Given the description of an element on the screen output the (x, y) to click on. 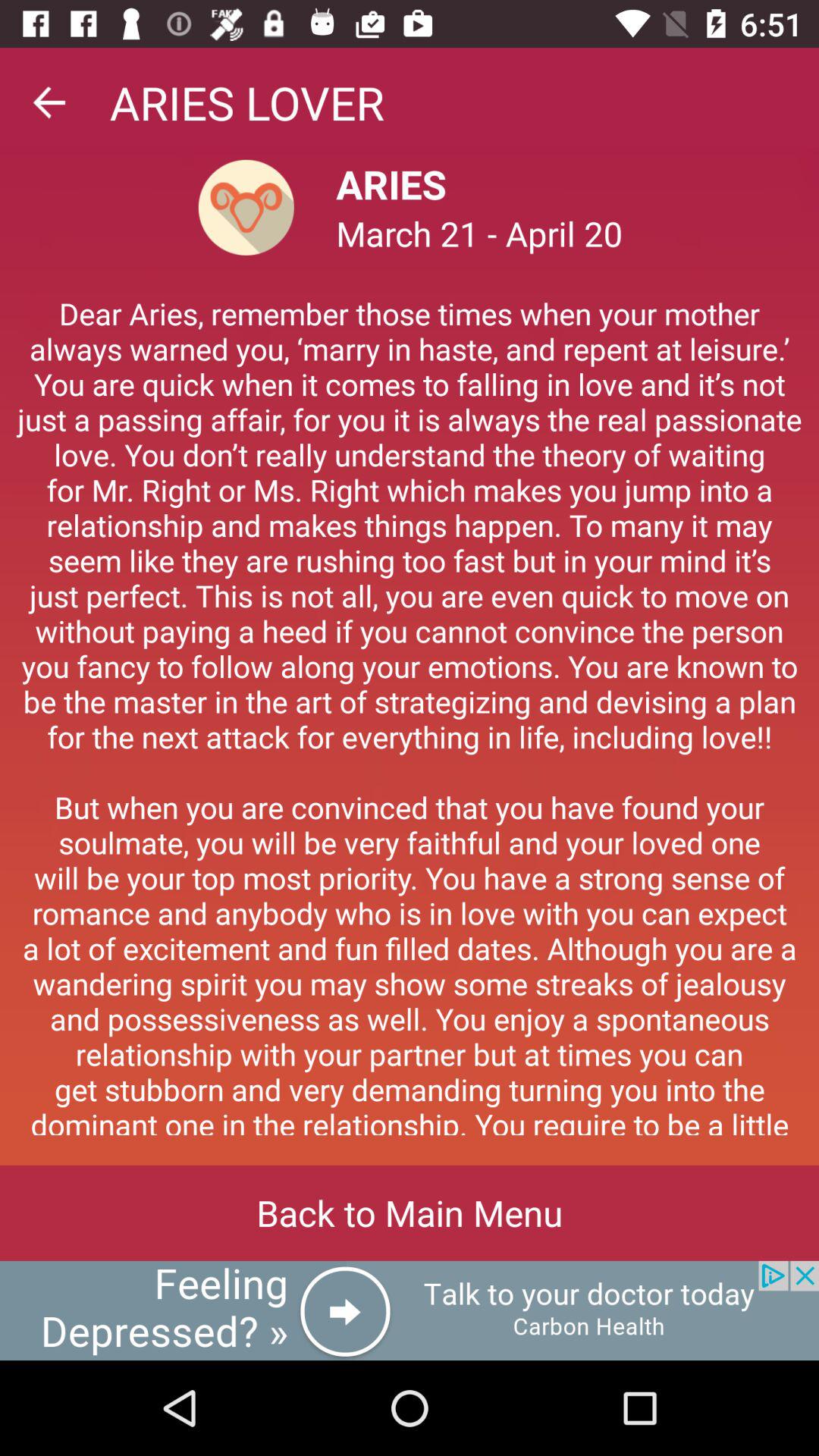
to go previous (49, 102)
